Given the description of an element on the screen output the (x, y) to click on. 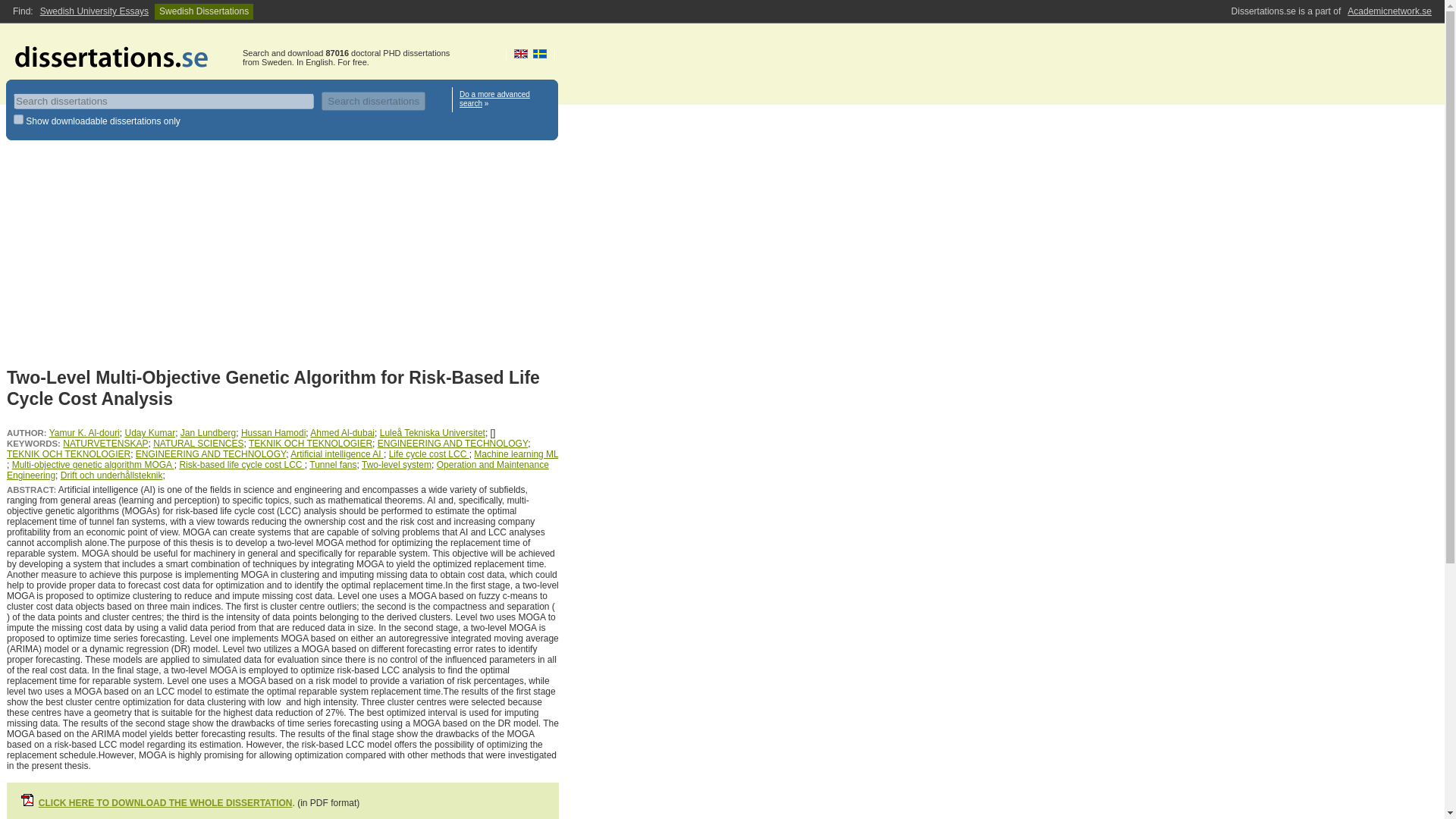
Life cycle cost LCC (428, 453)
Ahmed Al-dubai (342, 432)
language: Swedish (539, 53)
CLICK HERE TO DOWNLOAD THE WHOLE DISSERTATION (165, 802)
y (18, 119)
TEKNIK OCH TEKNOLOGIER (310, 443)
Do a more advanced search (494, 98)
Artificial intelligence AI (336, 453)
ENGINEERING AND TECHNOLOGY (452, 443)
Yamur K. Al-douri (84, 432)
Academicnetwork.se (1388, 11)
Language: English (520, 53)
Uday Kumar (148, 432)
Jan Lundberg (207, 432)
NATURAL SCIENCES (197, 443)
